Given the description of an element on the screen output the (x, y) to click on. 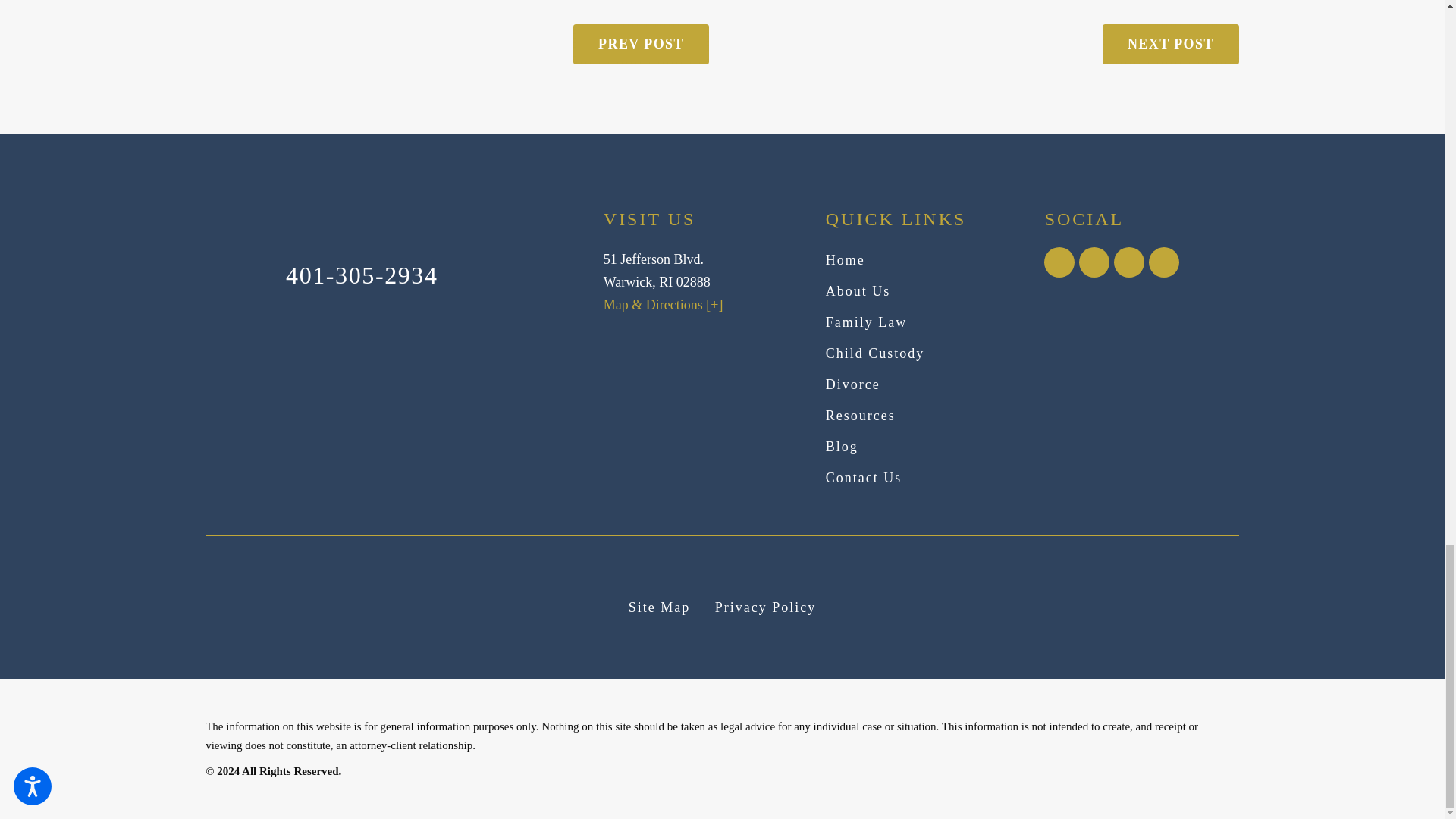
Twitter (1163, 262)
Facebook (1058, 262)
Yelp (1128, 262)
LinkedIn (1093, 262)
